Given the description of an element on the screen output the (x, y) to click on. 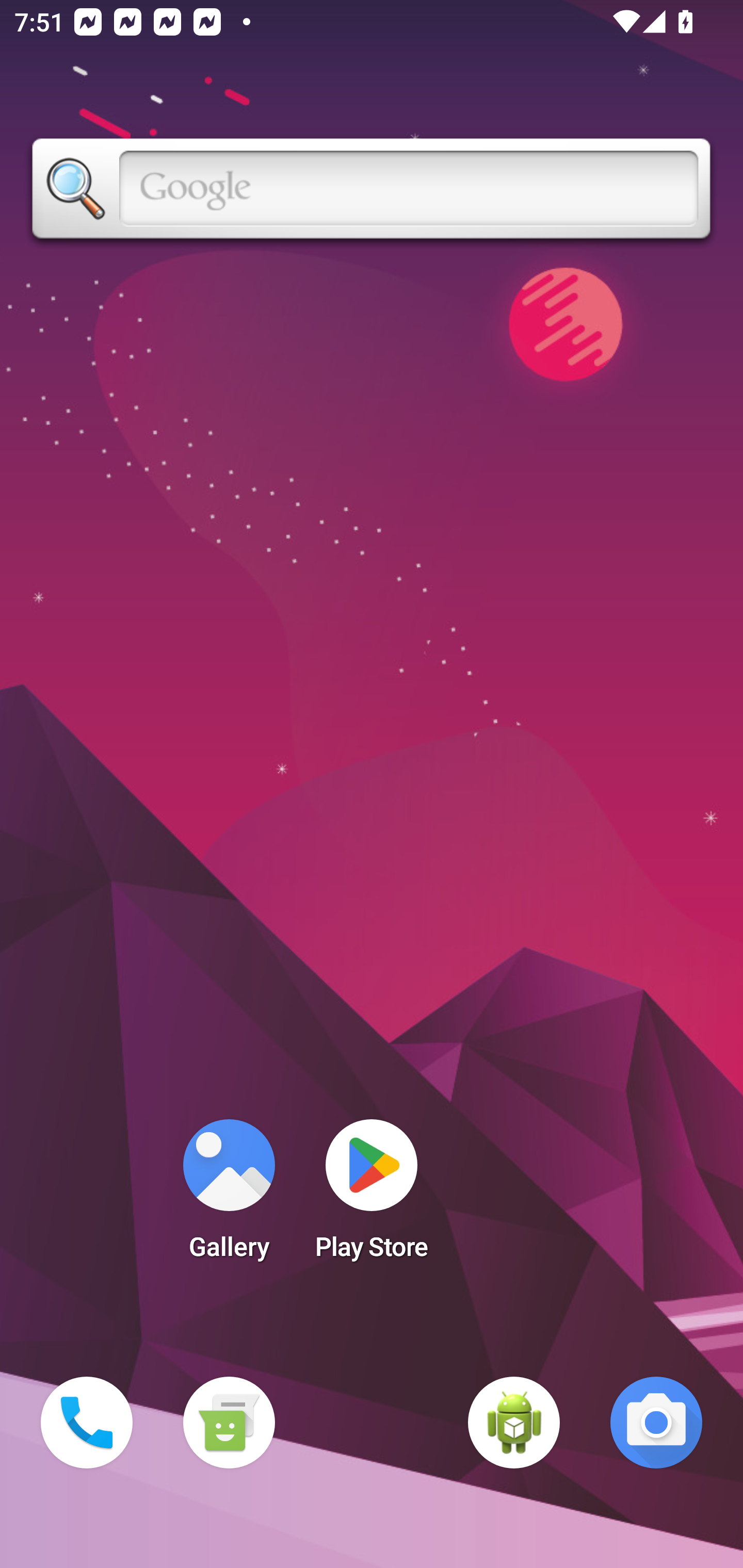
Gallery (228, 1195)
Play Store (371, 1195)
Phone (86, 1422)
Messaging (228, 1422)
WebView Browser Tester (513, 1422)
Camera (656, 1422)
